Given the description of an element on the screen output the (x, y) to click on. 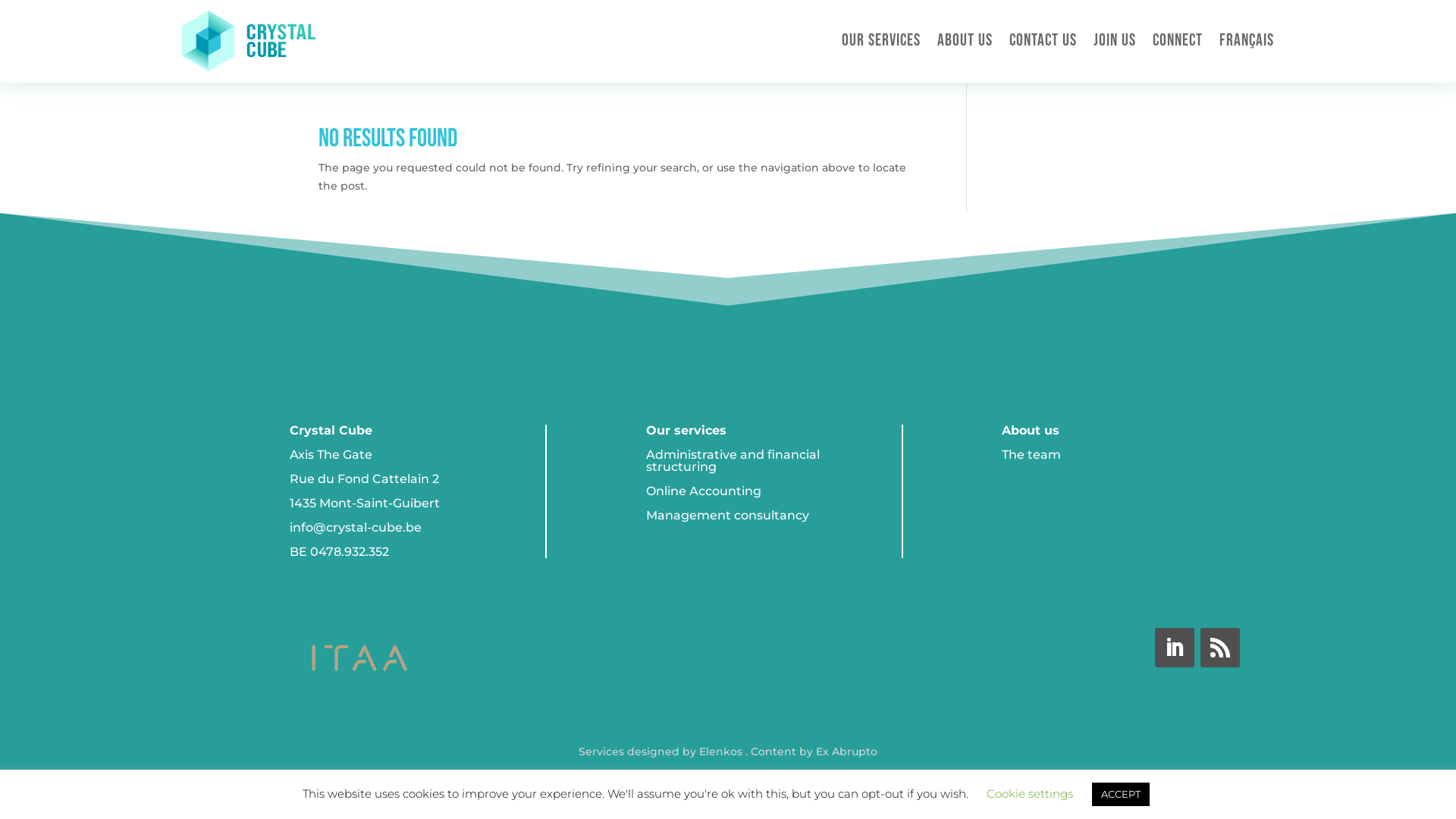
Administrative and financial structuring Element type: text (732, 460)
Follow on LinkedIn Element type: hover (1174, 647)
ITAA_Logo Element type: hover (358, 657)
ACCEPT Element type: text (1120, 794)
Follow on RSS Element type: hover (1219, 647)
ABOUT US Element type: text (964, 40)
OUR SERVICES Element type: text (880, 40)
Elenkos Element type: text (719, 751)
Cookie settings Element type: text (1029, 793)
The team Element type: text (1030, 454)
JOIN US Element type: text (1114, 40)
Management consultancy Element type: text (727, 515)
Online Accounting Element type: text (703, 490)
Ex Abrupto Element type: text (844, 751)
CONNECT Element type: text (1177, 40)
info@crystal-cube.be Element type: text (355, 527)
CONTACT US Element type: text (1042, 40)
